Given the description of an element on the screen output the (x, y) to click on. 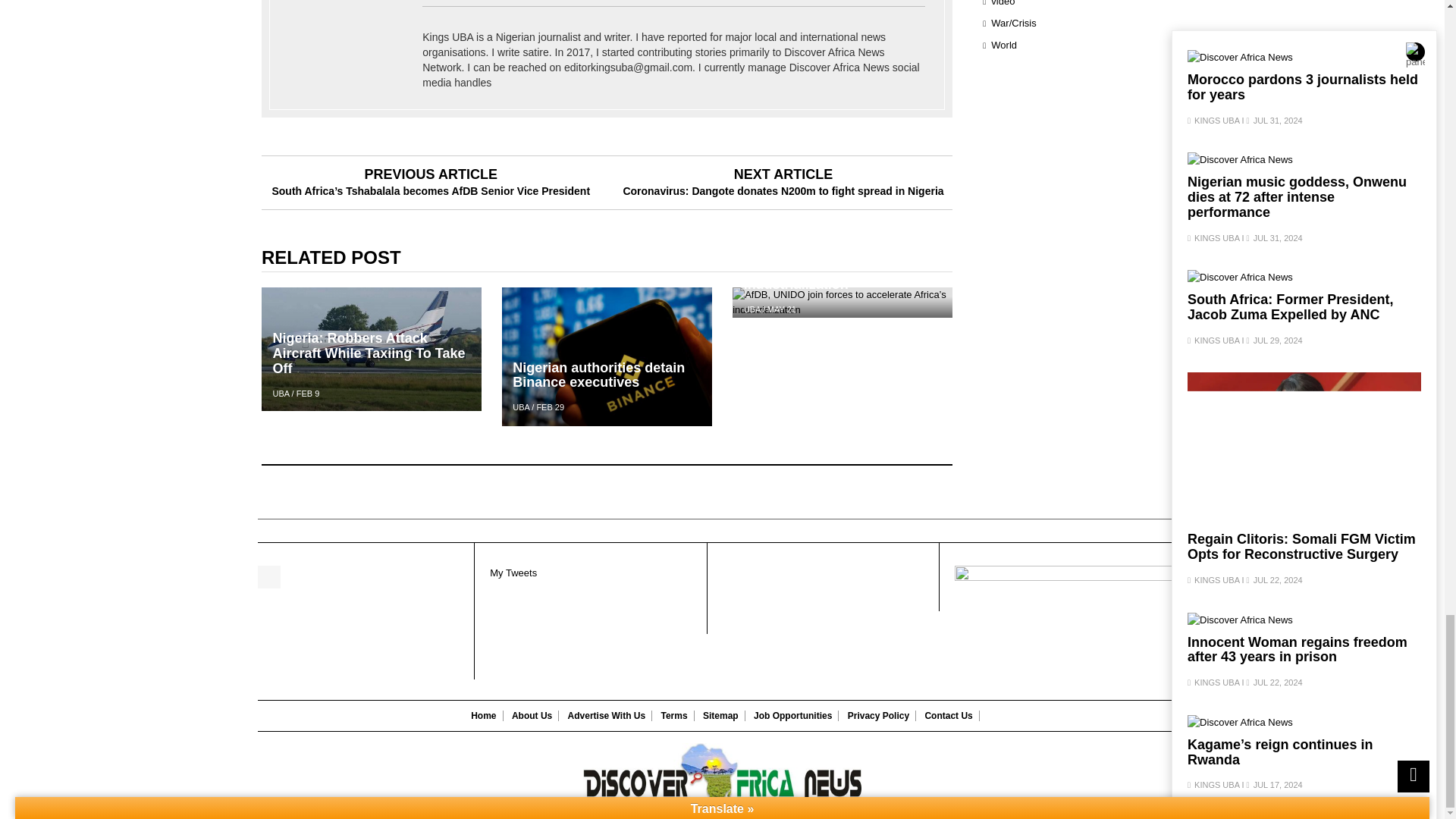
Nigeria: Robbers Attack Aircraft While Taxiing To Take Off (371, 353)
Nigeria: Robbers Attack Aircraft While Taxiing To Take Off (371, 348)
Nigerian authorities detain Binance executives (606, 355)
Nigerian authorities detain Binance executives (606, 376)
